Given the description of an element on the screen output the (x, y) to click on. 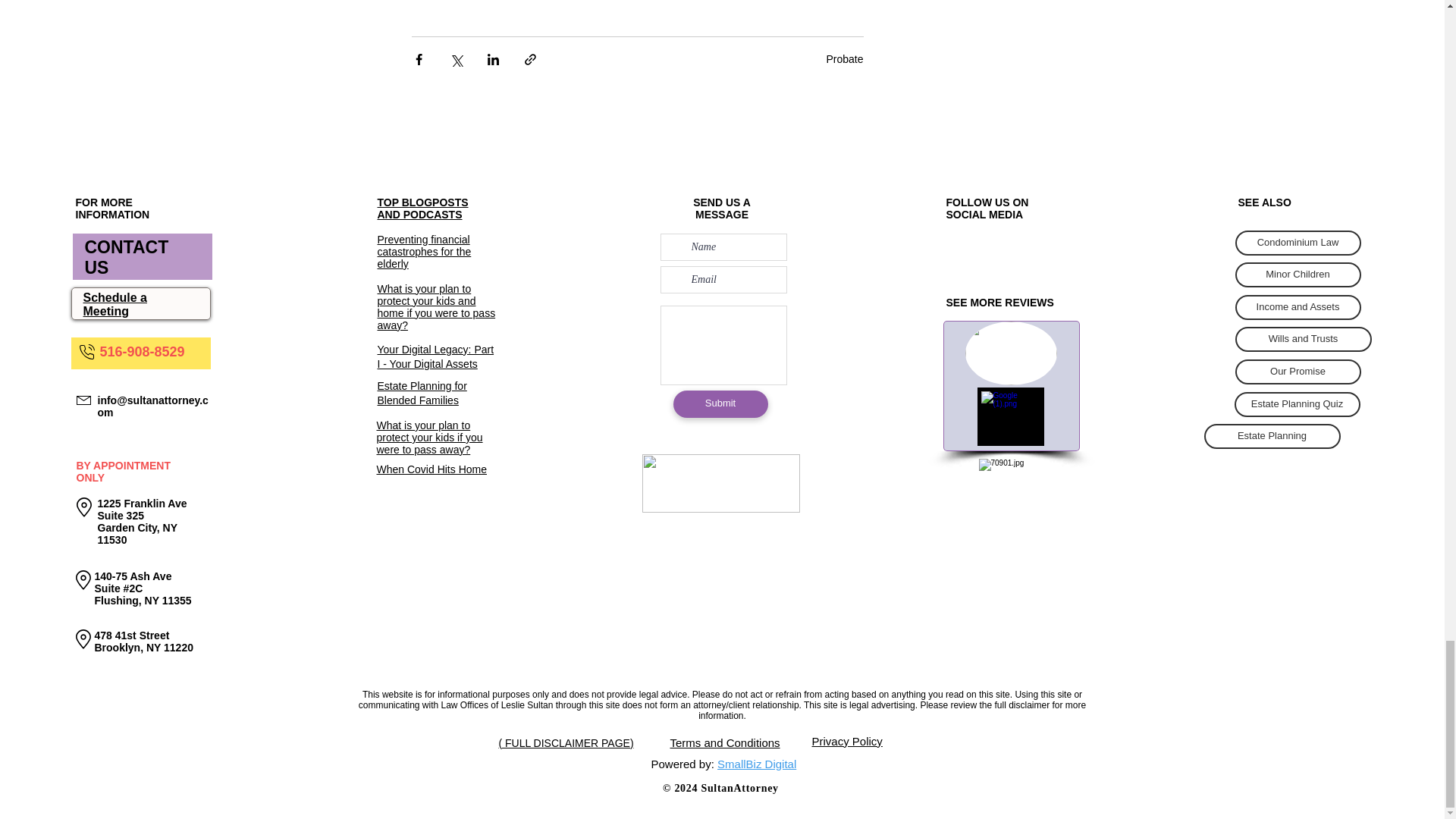
Probate (844, 59)
61.png (1010, 490)
61.png (1009, 416)
Lawpay image button.png (720, 483)
